Given the description of an element on the screen output the (x, y) to click on. 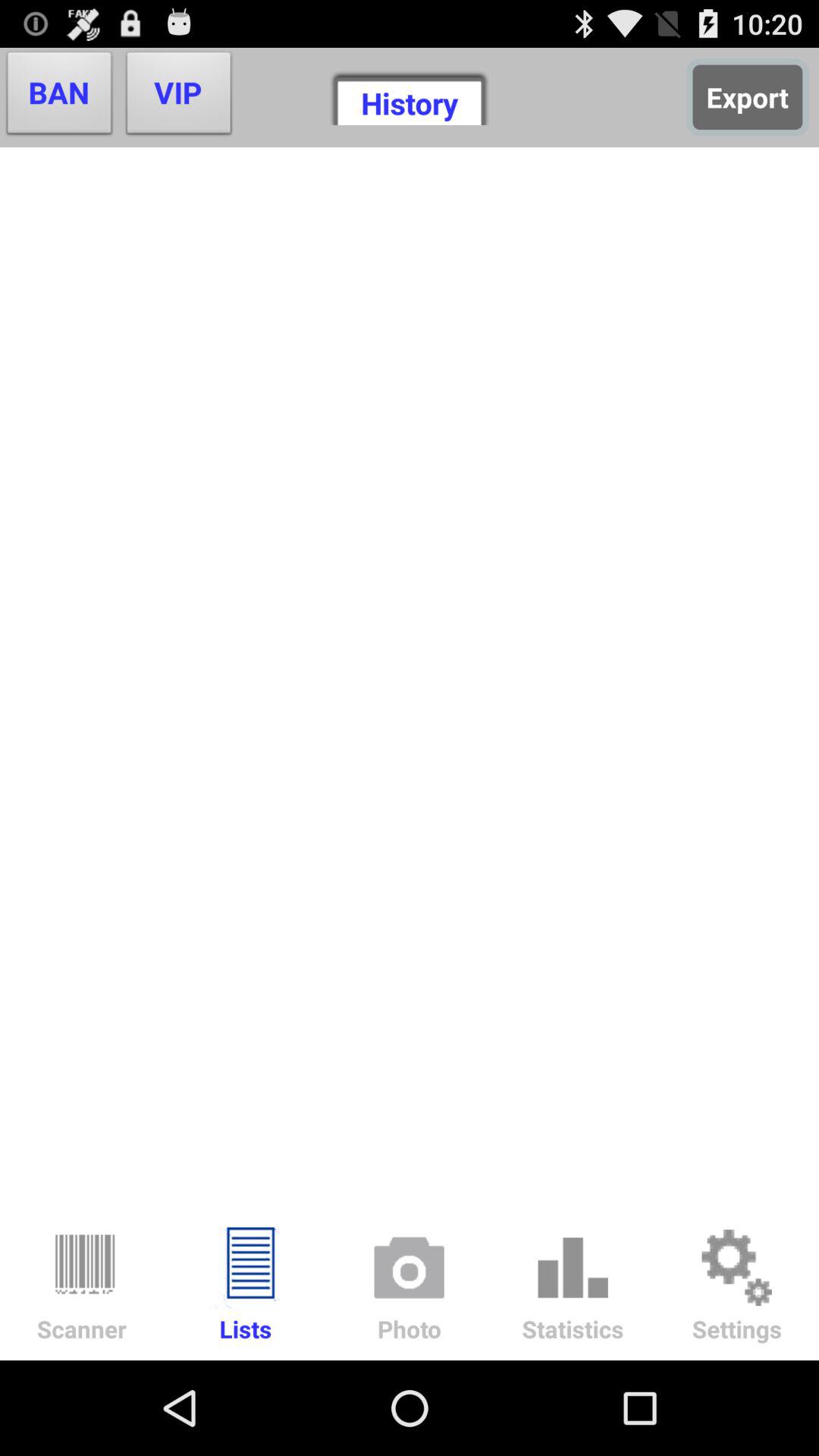
turn on button to the left of the vip item (59, 97)
